Given the description of an element on the screen output the (x, y) to click on. 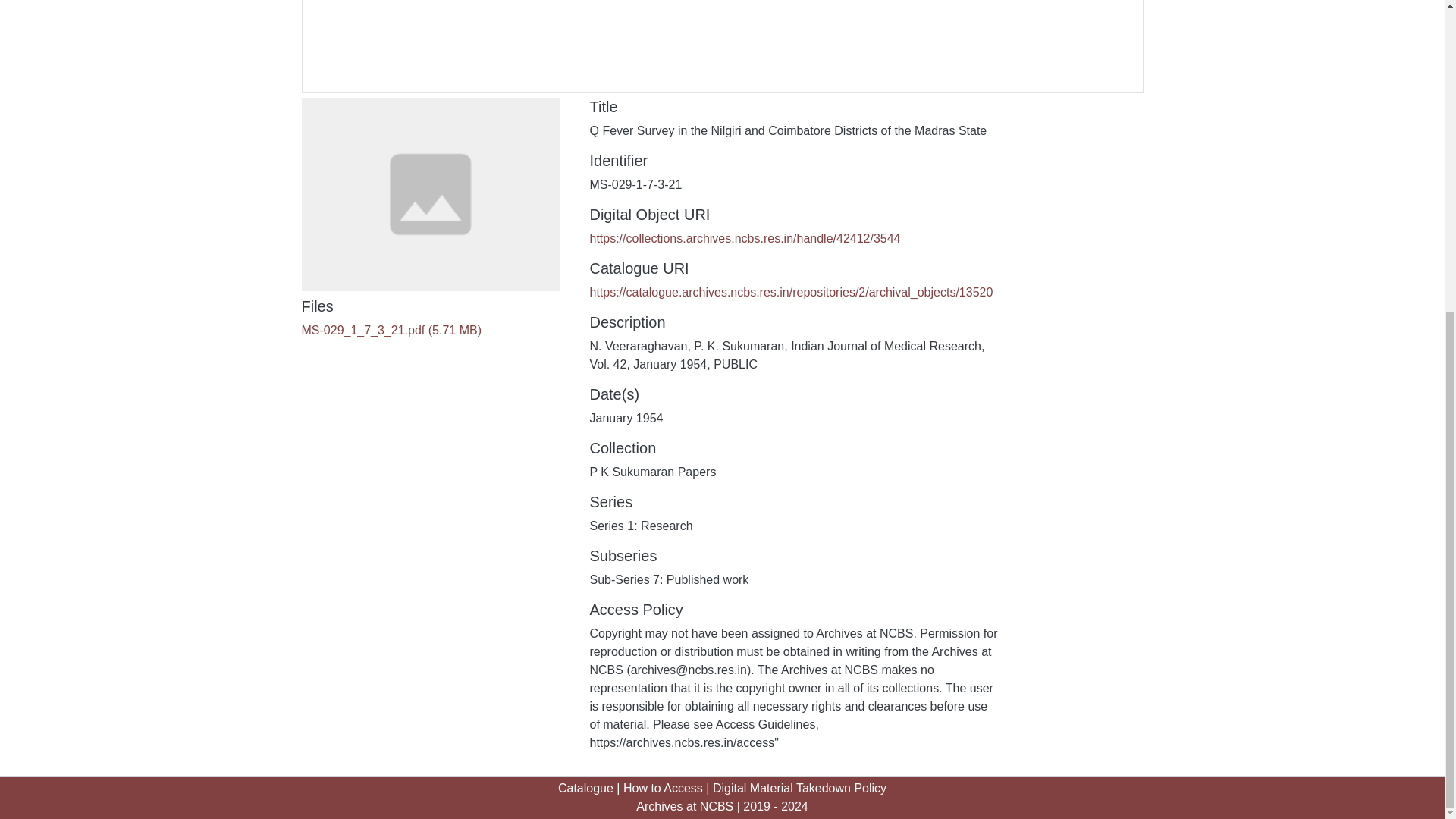
Mirador Viewer (721, 46)
Archives at NCBS (684, 806)
How to Access (663, 788)
Digital Material Takedown Policy (799, 788)
Catalogue (584, 788)
